Given the description of an element on the screen output the (x, y) to click on. 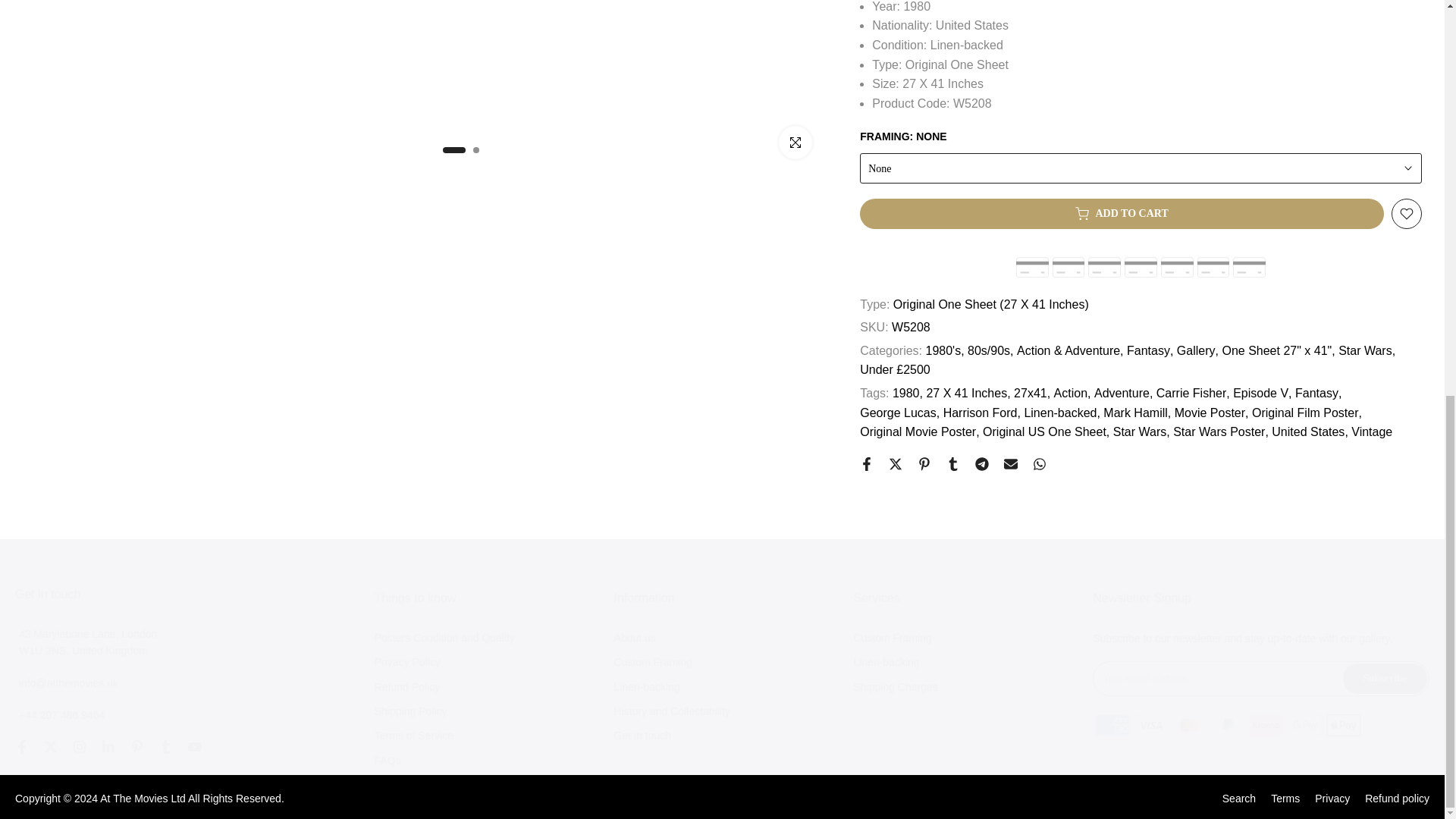
Share on Twitter (895, 463)
Share on WhatsApp (1039, 463)
Share on Email (1010, 463)
Share on Pinterest (924, 463)
Share on Tumblr (952, 463)
Share on Telegram (981, 463)
Share on Facebook (866, 463)
